Given the description of an element on the screen output the (x, y) to click on. 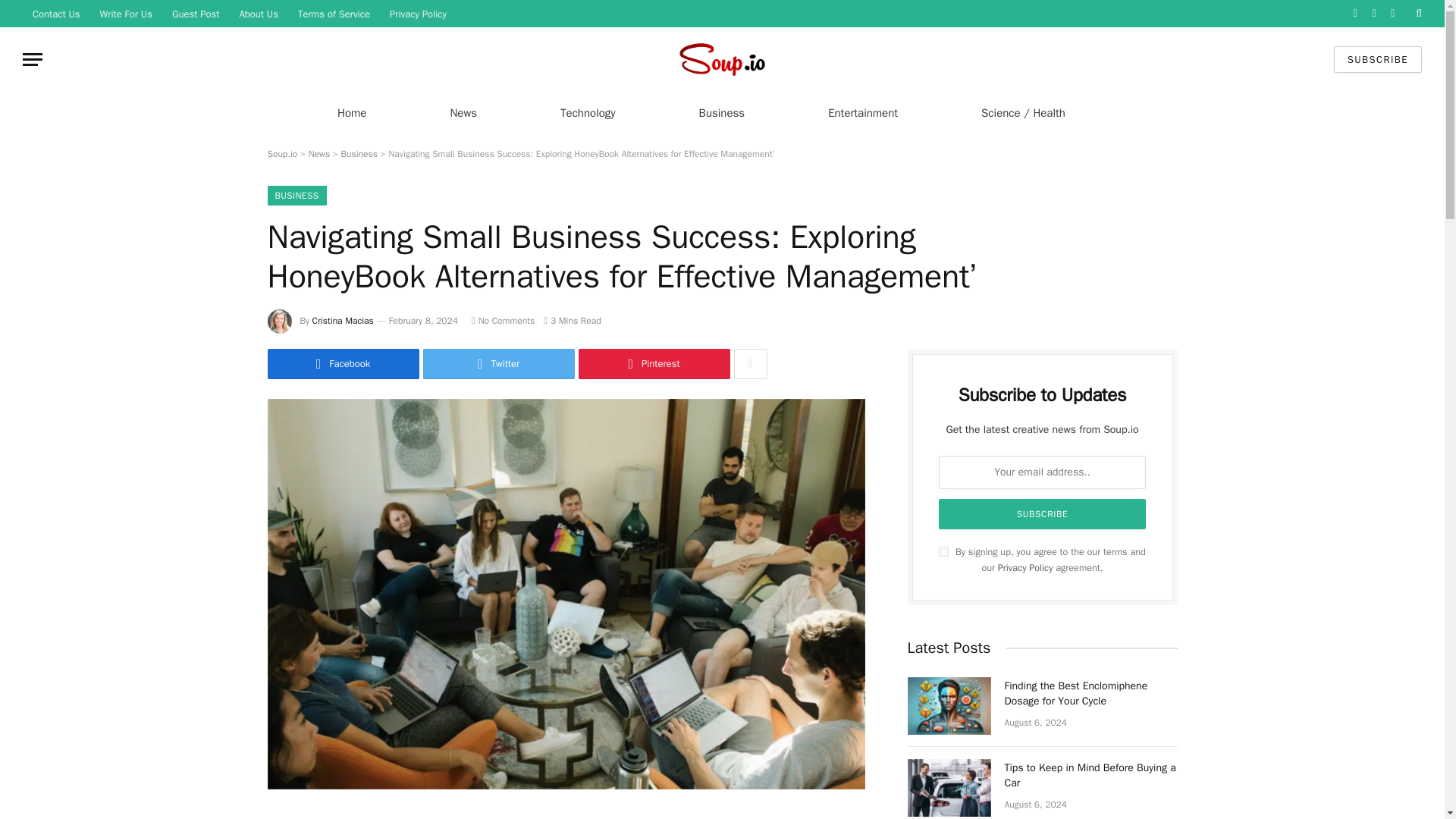
Show More Social Sharing (750, 363)
Share on Pinterest (653, 363)
Twitter (499, 363)
Guest Post (195, 13)
on (944, 551)
Business (722, 112)
News (462, 112)
Home (351, 112)
About Us (257, 13)
Business (358, 153)
